Given the description of an element on the screen output the (x, y) to click on. 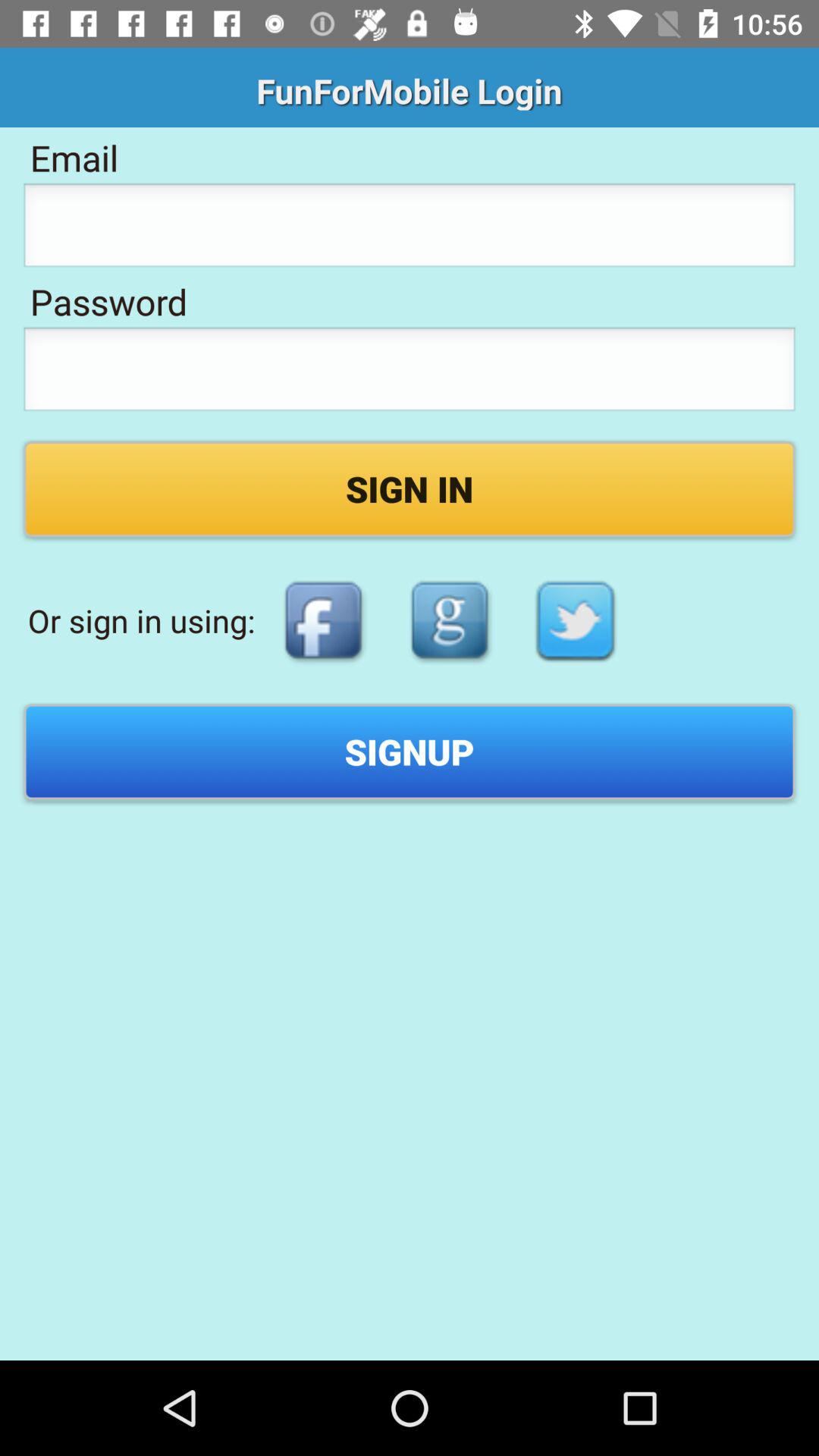
open facebook (323, 620)
